Given the description of an element on the screen output the (x, y) to click on. 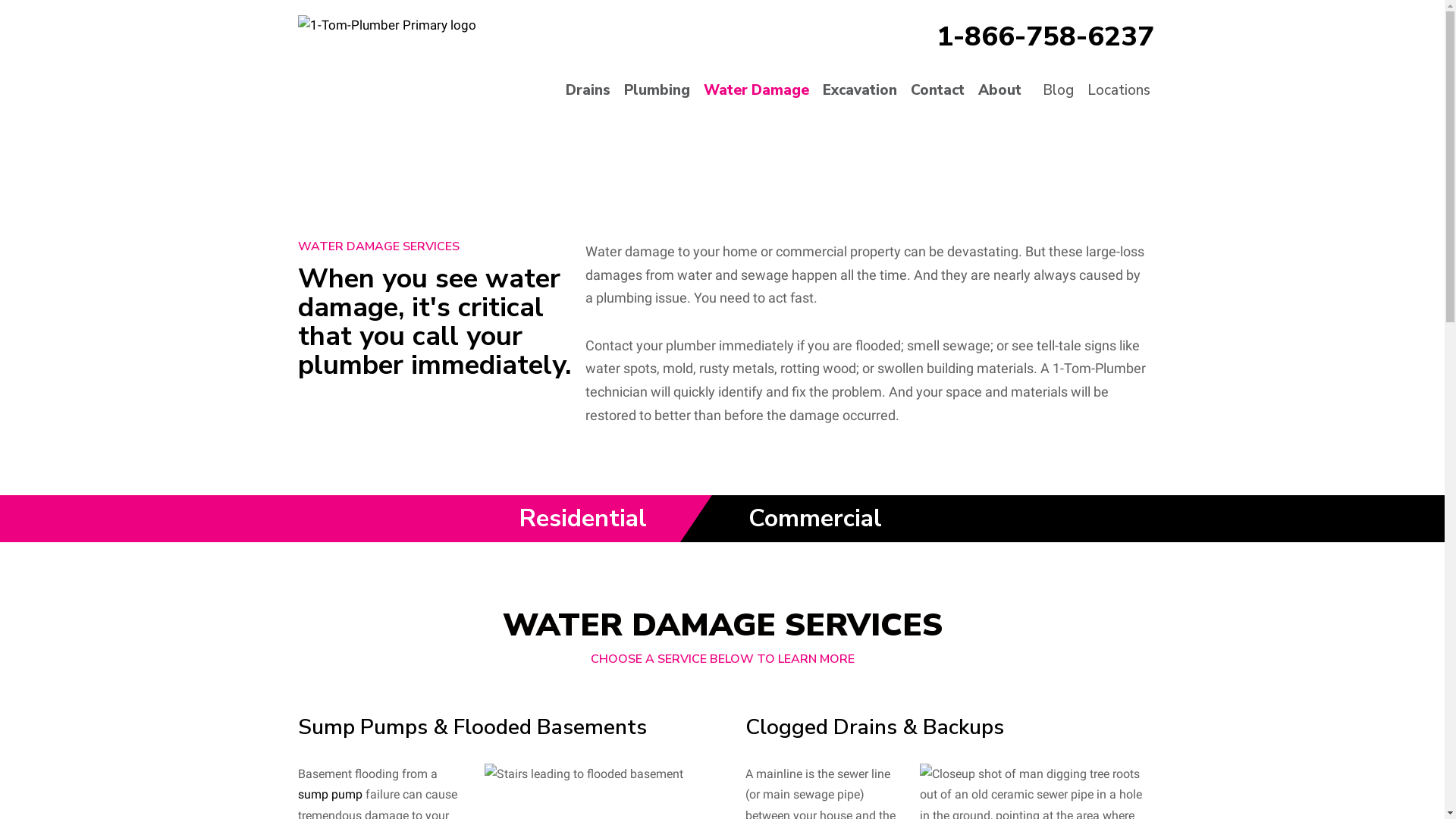
1-866-758-6237 Element type: text (1045, 37)
Excavation Element type: text (859, 90)
Water Damage Element type: text (755, 90)
sump pump Element type: text (329, 794)
Locations Element type: text (1118, 90)
About Element type: text (1003, 90)
Plumbing Element type: text (656, 90)
Drains Element type: text (587, 90)
Blog Element type: text (1057, 90)
Contact Element type: text (937, 90)
